Given the description of an element on the screen output the (x, y) to click on. 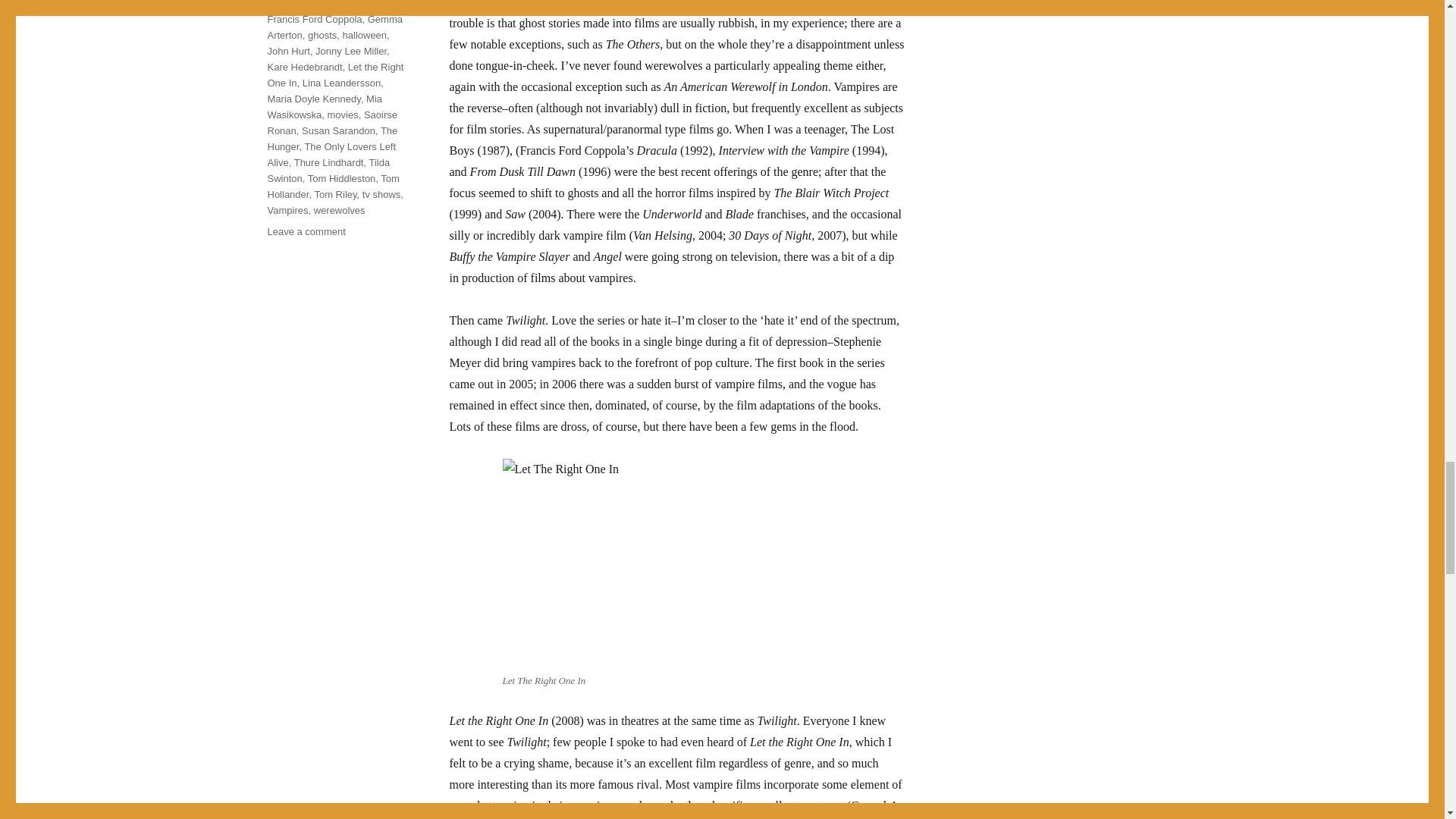
Film (375, 4)
Dracula (344, 4)
David Bowie (293, 4)
Gemma Arterton (333, 26)
ghosts (321, 34)
Francis Ford Coppola (313, 19)
